Given the description of an element on the screen output the (x, y) to click on. 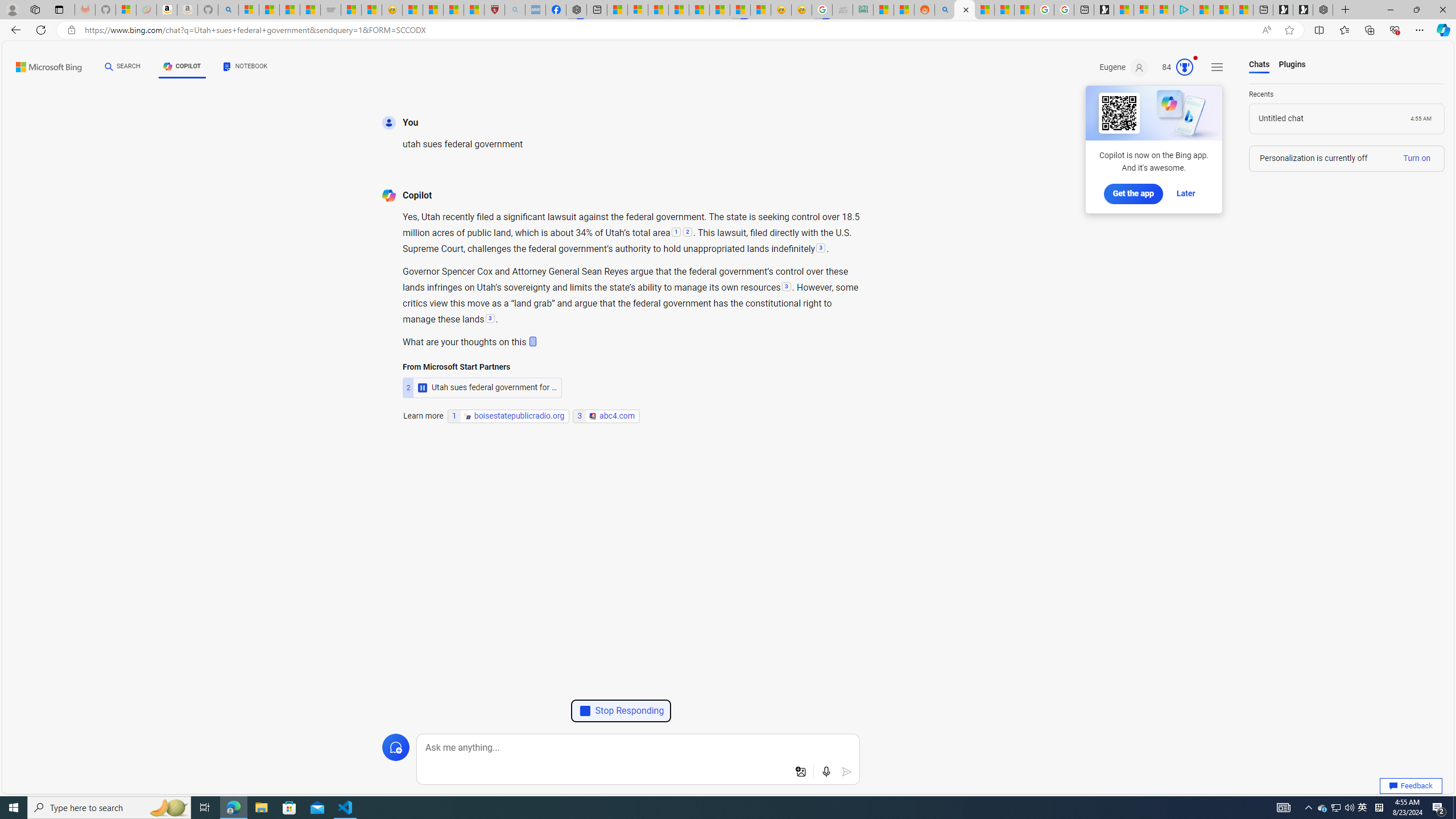
2:  (687, 232)
Load chat (1346, 118)
These 3 Stocks Pay You More Than 5% to Own Them (1242, 9)
